Given the description of an element on the screen output the (x, y) to click on. 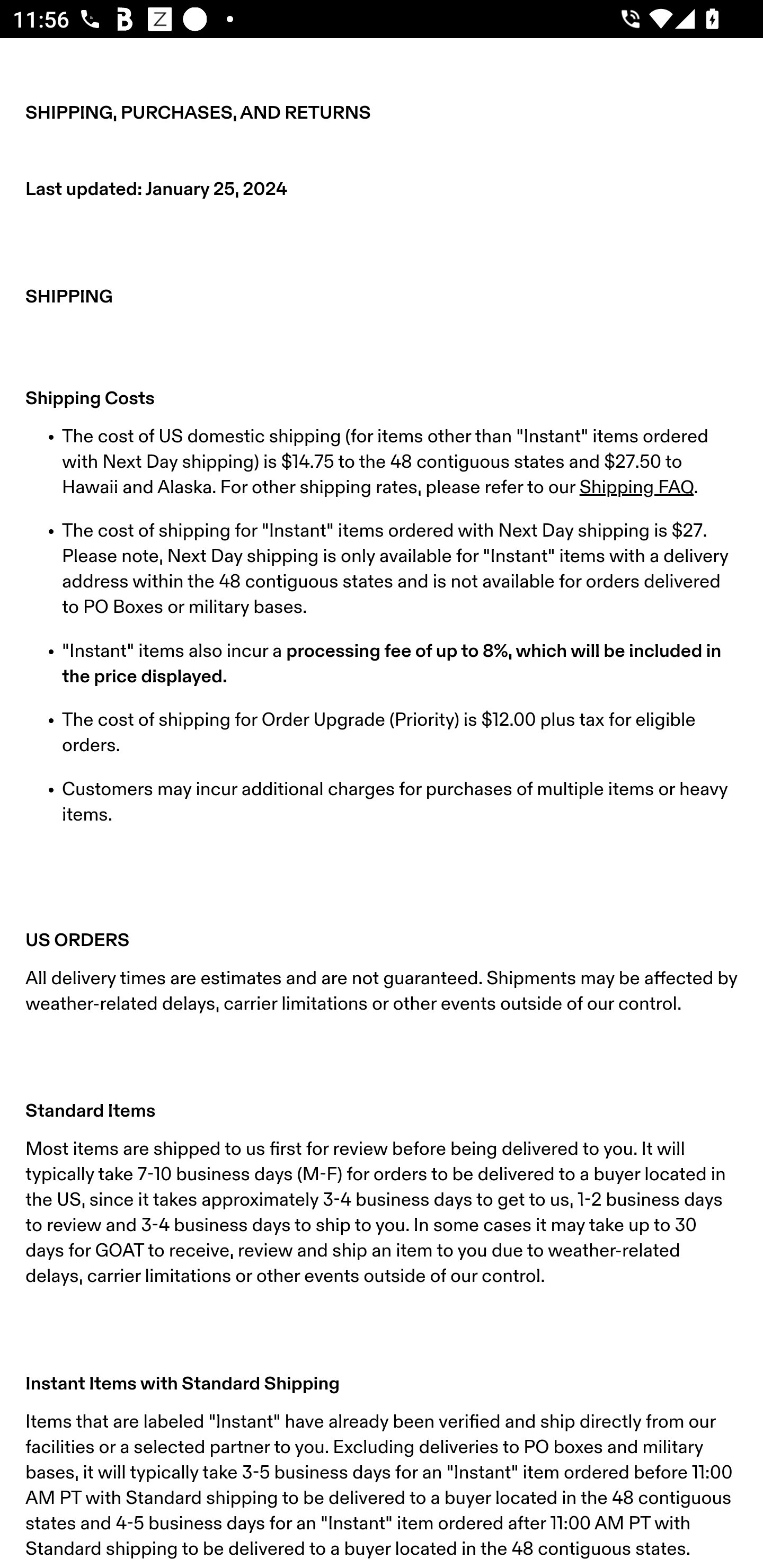
Shipping FAQ (636, 487)
